Given the description of an element on the screen output the (x, y) to click on. 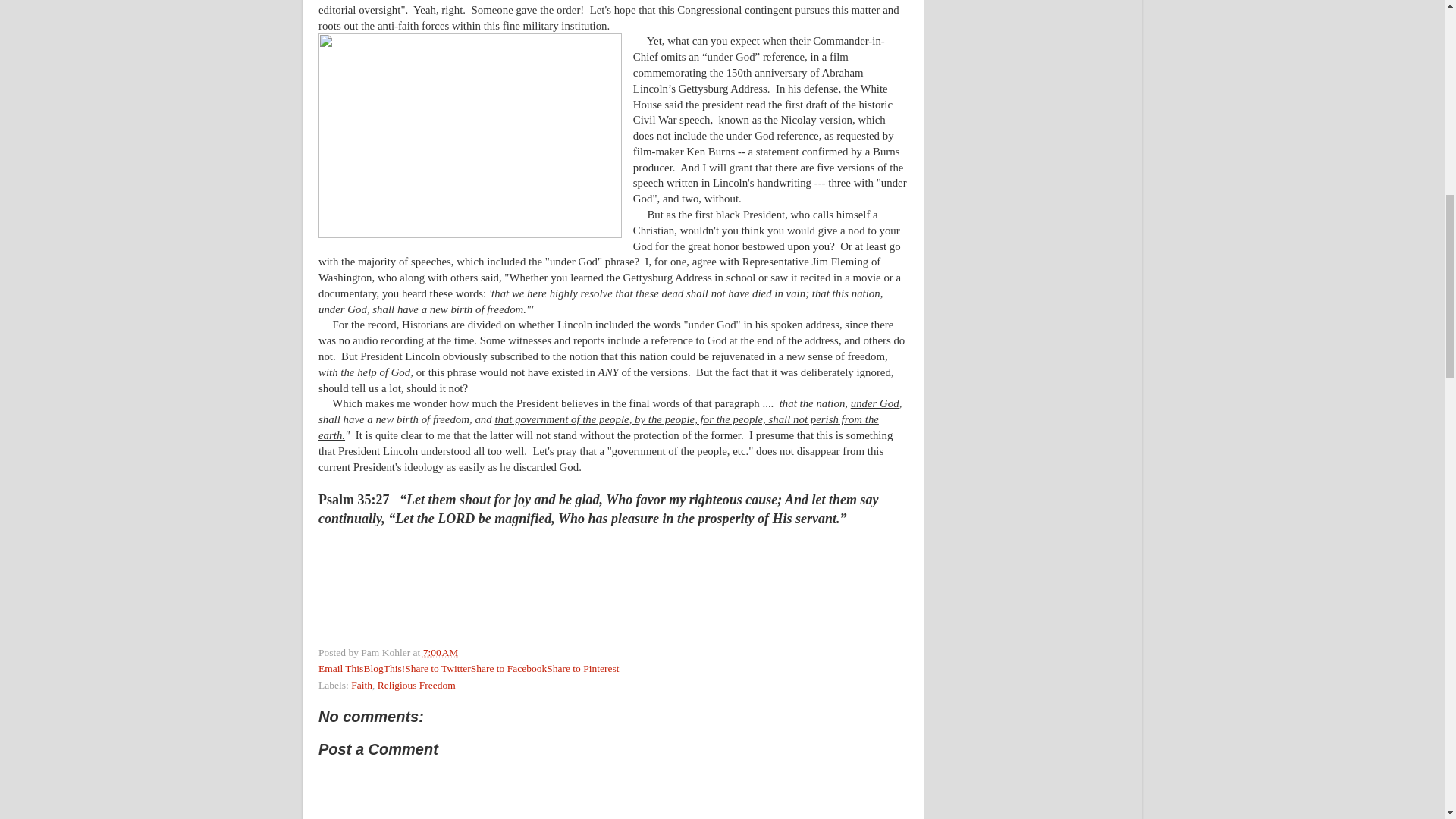
Email This (340, 668)
Email Post (467, 652)
Share to Twitter (437, 668)
permanent link (440, 652)
Share to Pinterest (582, 668)
Email This (340, 668)
BlogThis! (383, 668)
Religious Freedom (416, 685)
Share to Facebook (508, 668)
Share to Facebook (508, 668)
BlogThis! (383, 668)
Faith (361, 685)
Share to Pinterest (582, 668)
Share to Twitter (437, 668)
